Given the description of an element on the screen output the (x, y) to click on. 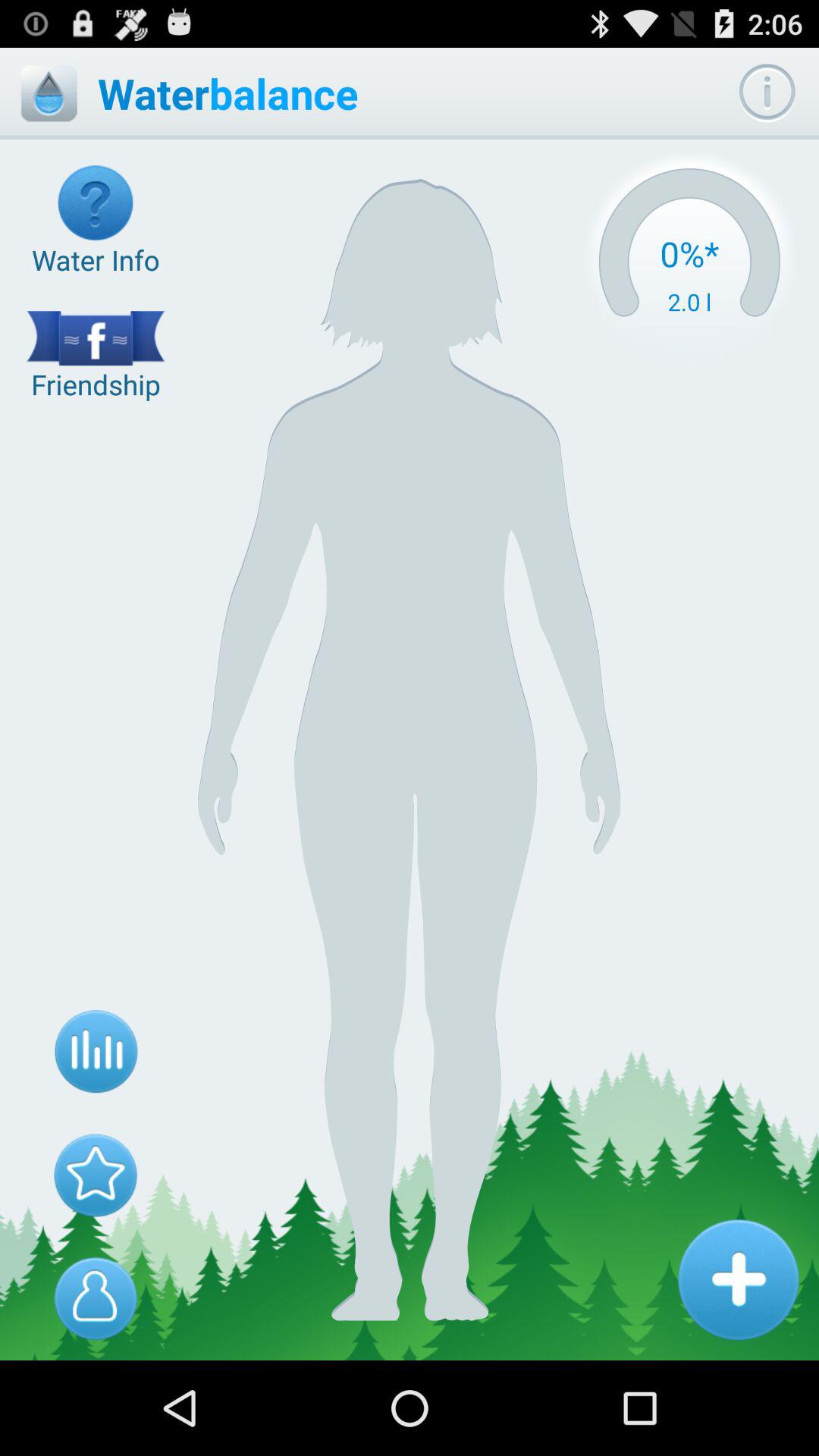
click the app to the right of waterbalance icon (767, 93)
